Given the description of an element on the screen output the (x, y) to click on. 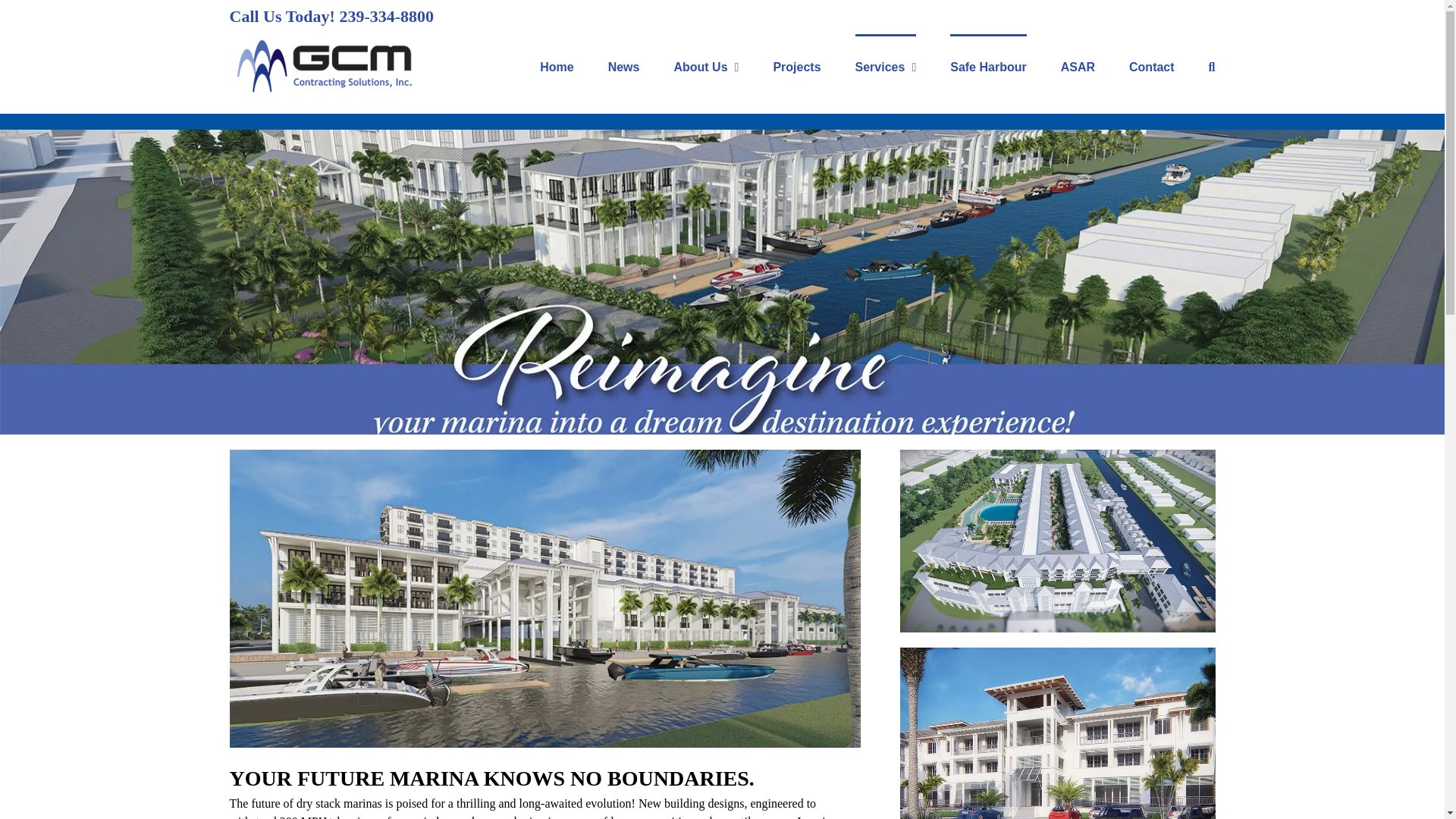
Safe Harbour (988, 65)
About Us (705, 65)
Services (886, 65)
